Given the description of an element on the screen output the (x, y) to click on. 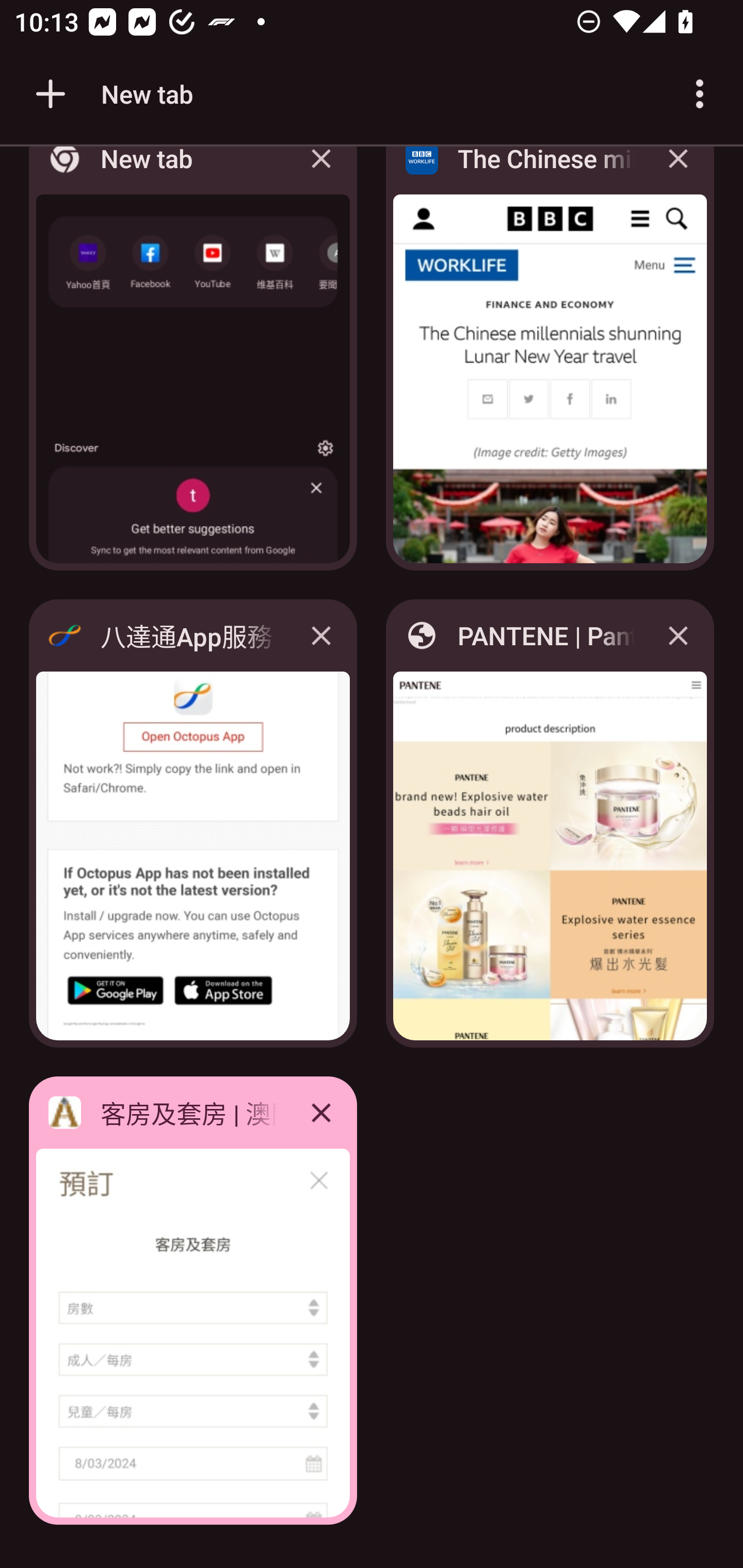
New tab (111, 93)
Customize and control Google Chrome (699, 93)
New tab New tab, tab Close New tab tab (192, 364)
Close New tab tab (320, 173)
Close 八達通App服務 - 香港八達通 tab (320, 635)
Close PANTENE | Pantene tab (677, 635)
Close 客房及套房 | 澳門新濠鋒 tab (320, 1112)
